Given the description of an element on the screen output the (x, y) to click on. 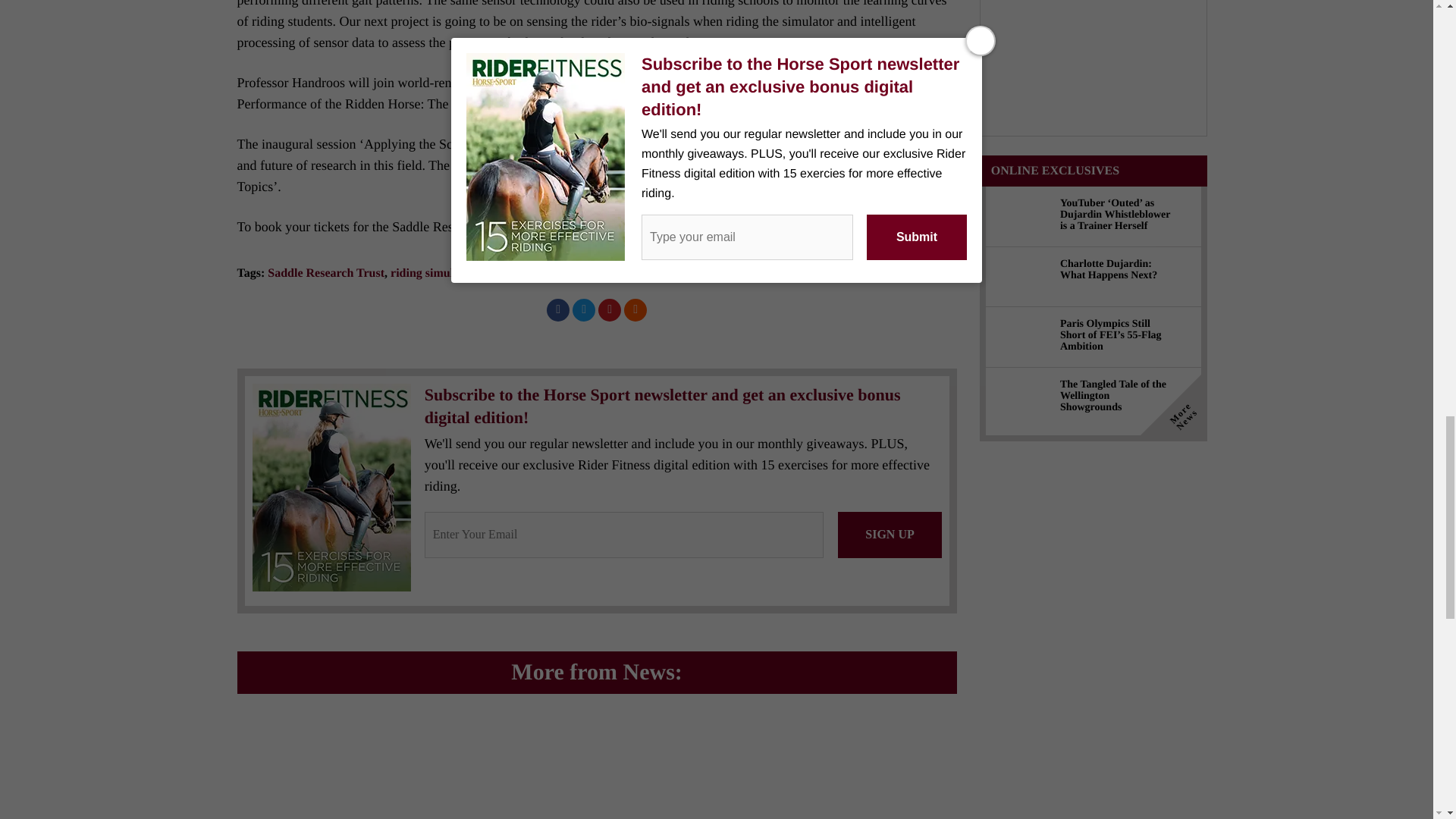
SIGN UP (889, 534)
riding simulator (432, 273)
Saddle Research Trust (325, 273)
here (625, 226)
